Given the description of an element on the screen output the (x, y) to click on. 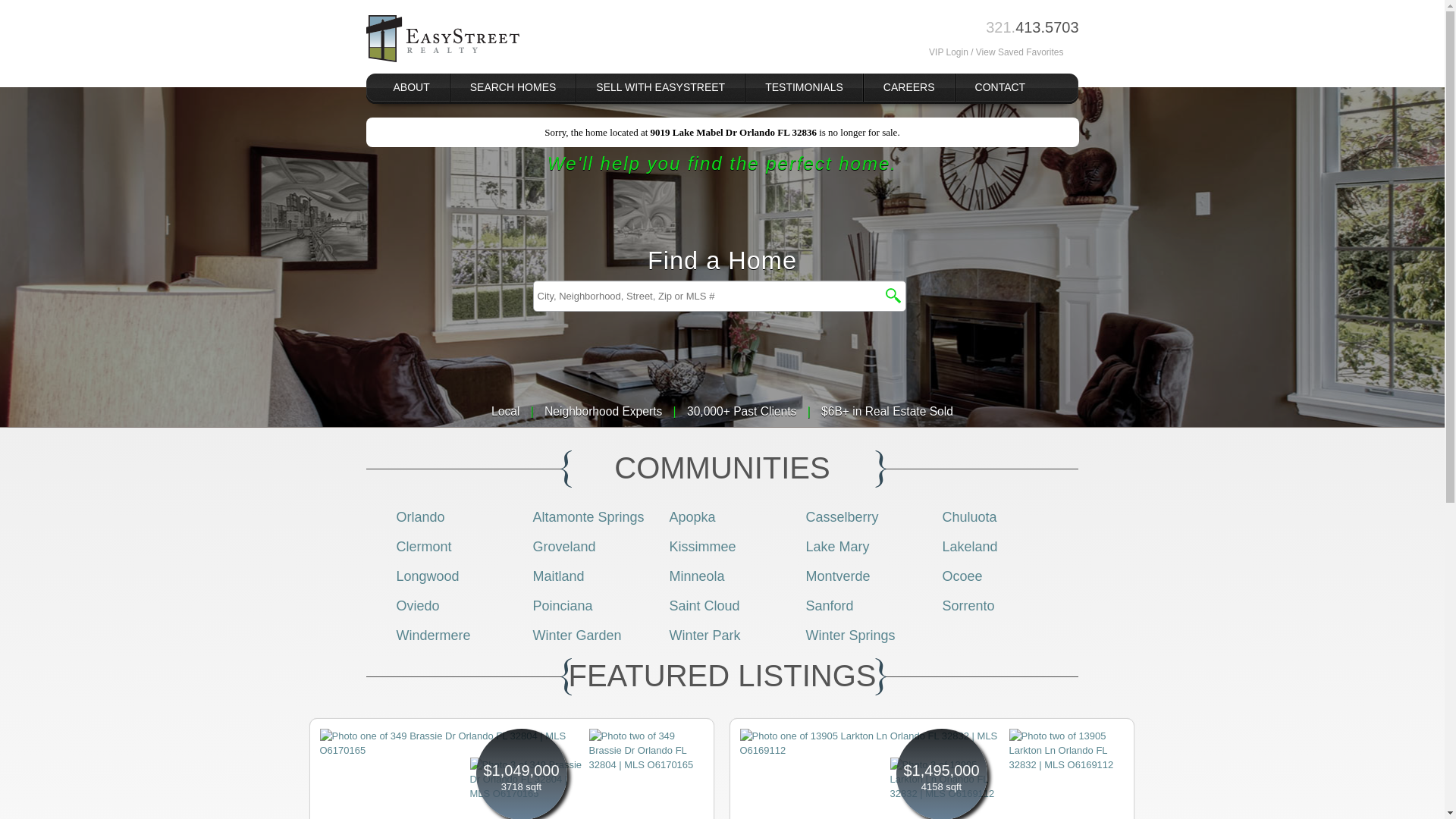
TESTIMONIALS (804, 87)
Kissimmee (701, 546)
Ocoee (961, 575)
About (410, 87)
Oviedo (417, 605)
Chuluota (968, 516)
SEARCH HOMES (512, 87)
Longwood (427, 575)
Apopka (691, 516)
Contact (1000, 87)
